Given the description of an element on the screen output the (x, y) to click on. 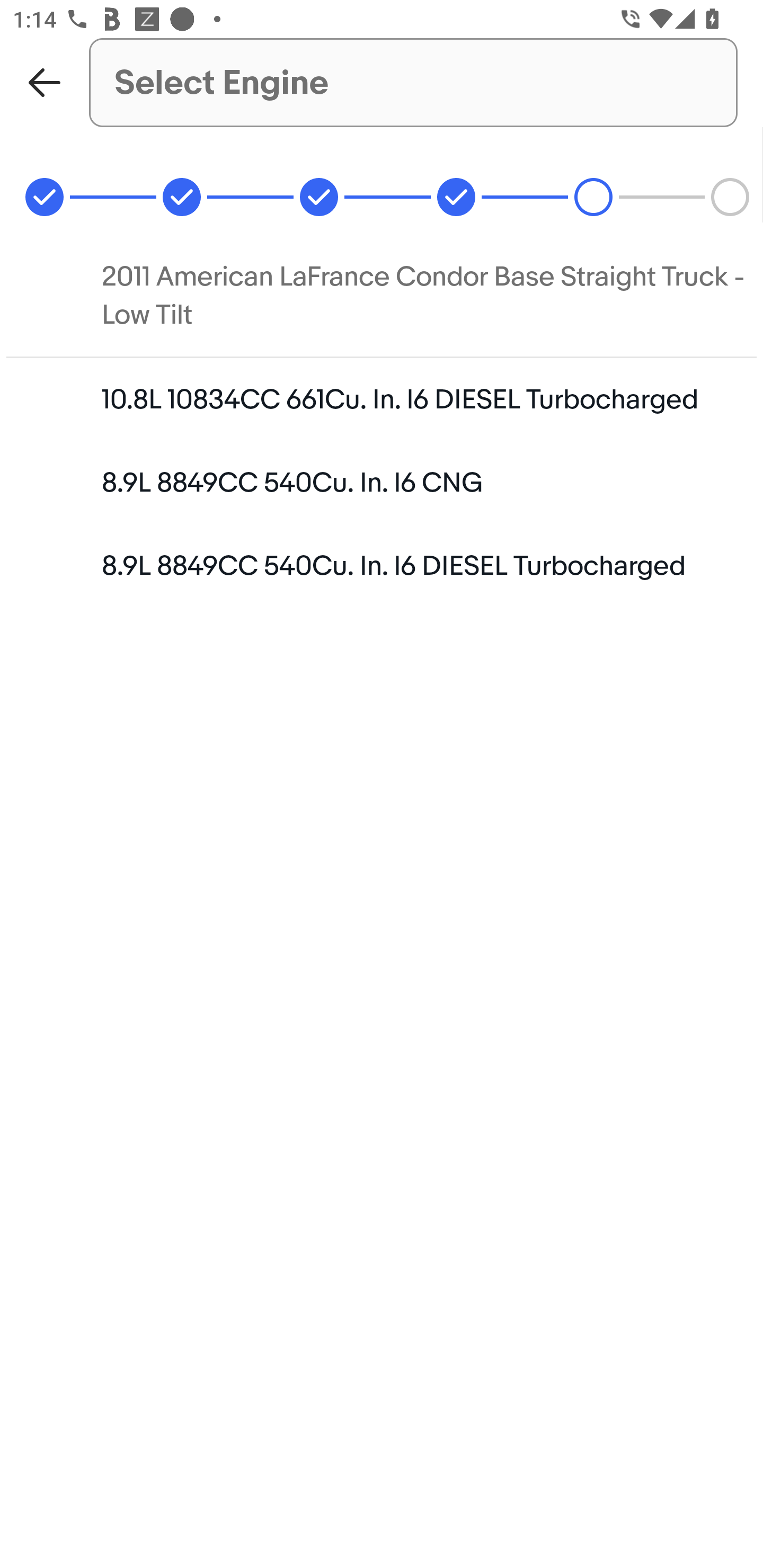
Back (44, 82)
Select Engine (413, 82)
10.8L 10834CC 661Cu. In. l6 DIESEL Turbocharged (381, 398)
8.9L 8849CC 540Cu. In. l6 CNG (381, 481)
8.9L 8849CC 540Cu. In. l6 DIESEL Turbocharged (381, 565)
